Given the description of an element on the screen output the (x, y) to click on. 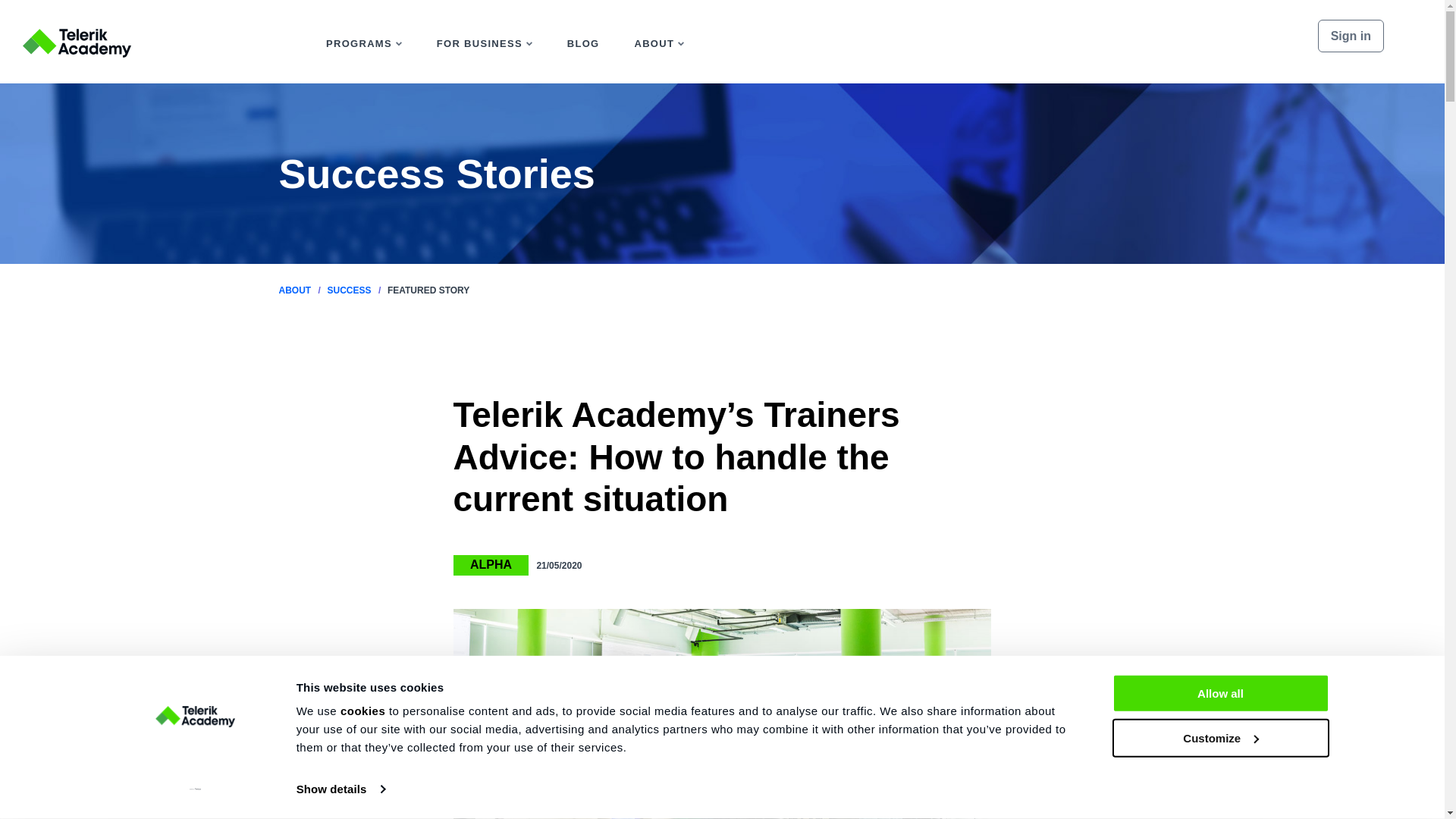
cookies (362, 710)
Show details (340, 789)
